Given the description of an element on the screen output the (x, y) to click on. 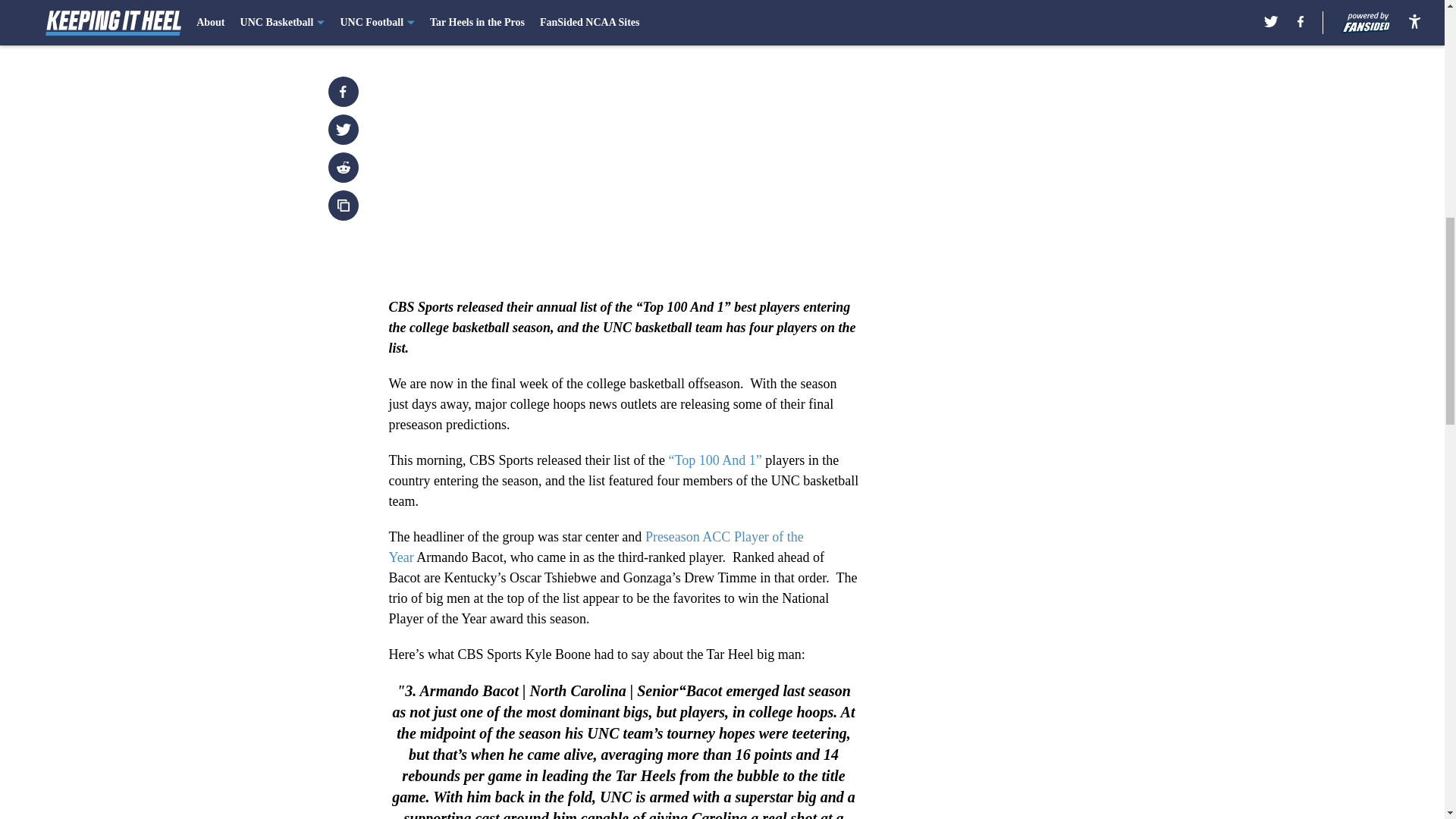
Preseason ACC Player of the Year (595, 547)
